Given the description of an element on the screen output the (x, y) to click on. 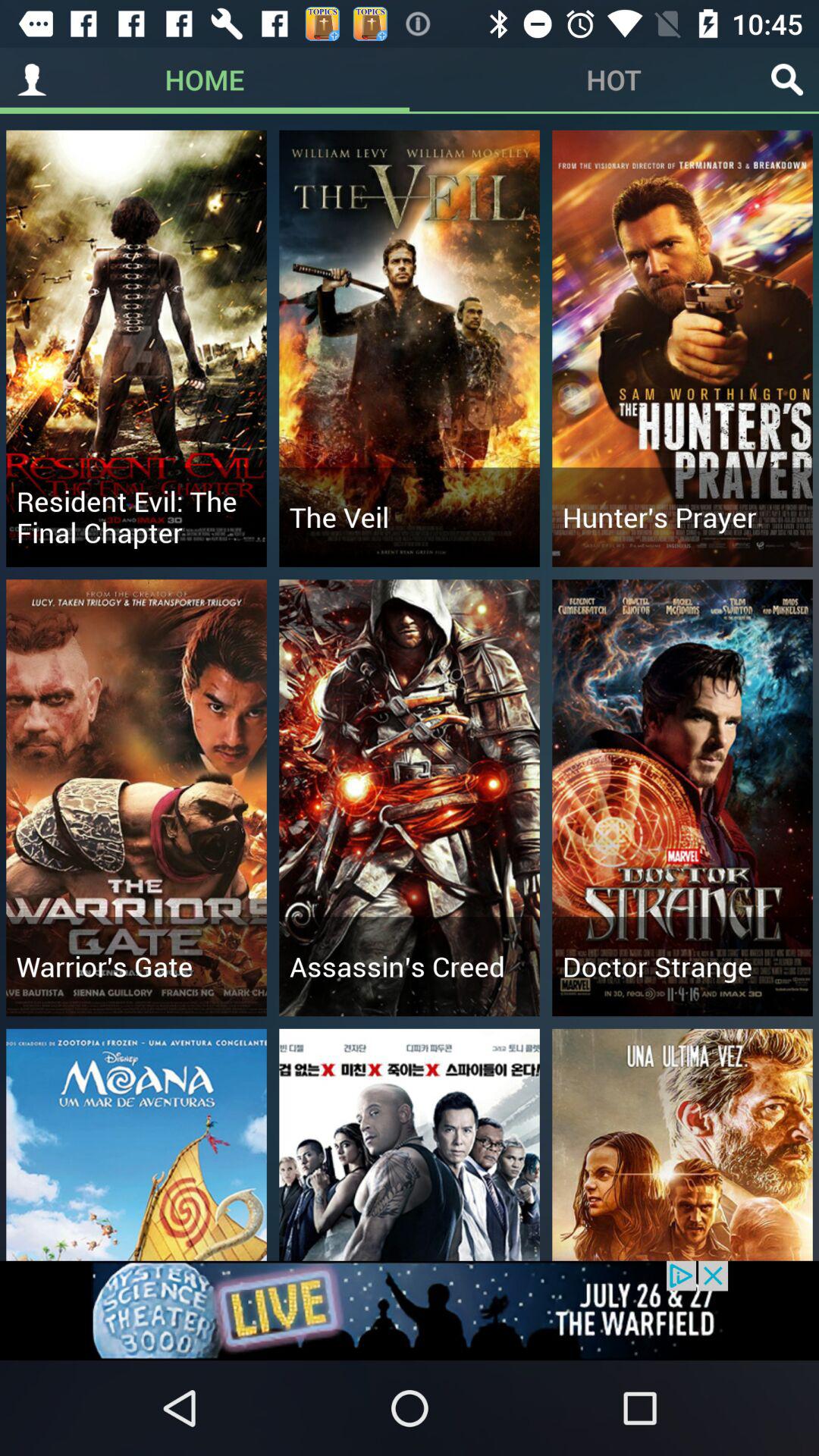
look closer (787, 79)
